Given the description of an element on the screen output the (x, y) to click on. 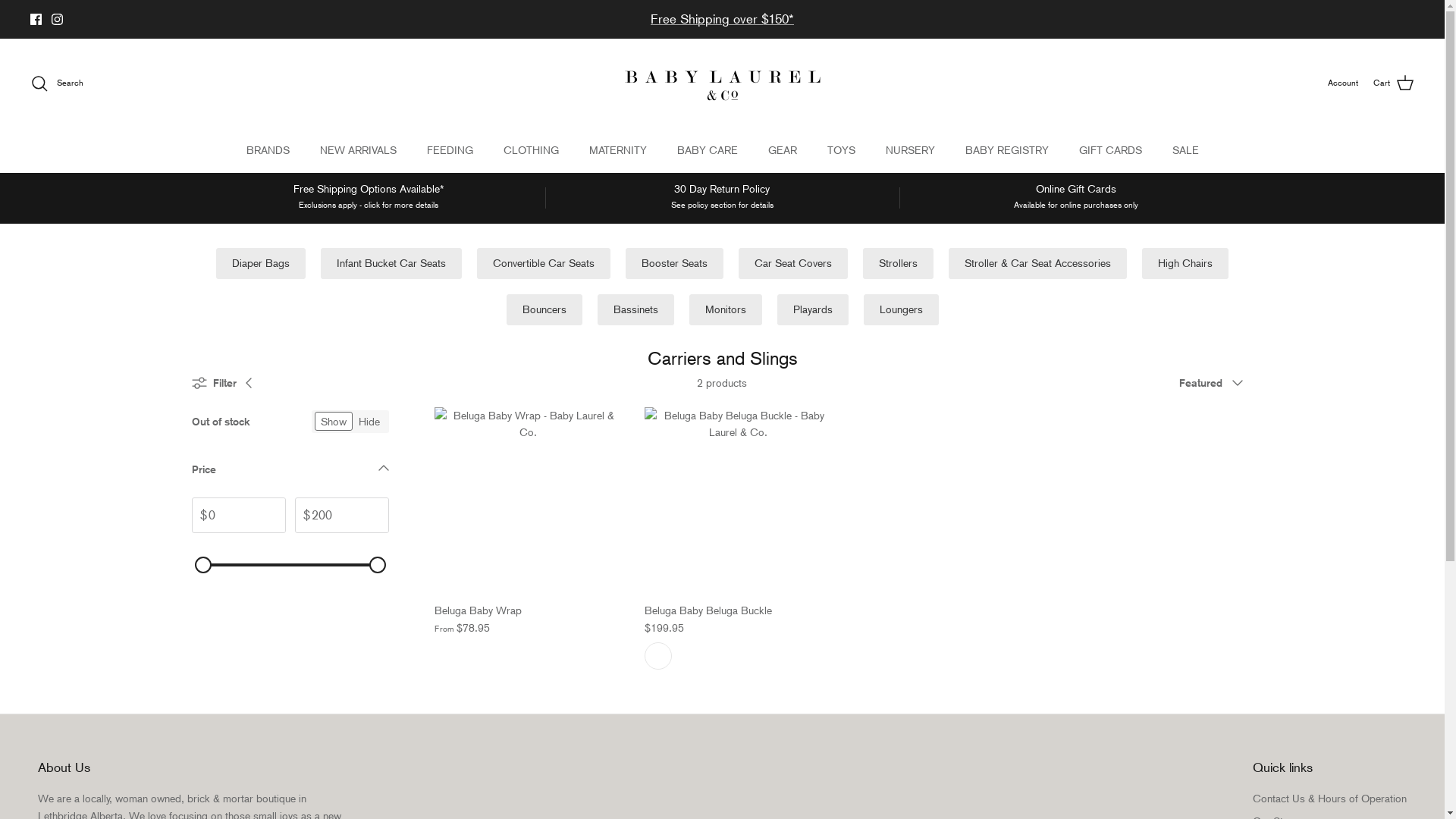
Cart Element type: text (1393, 83)
Strollers Element type: text (897, 263)
BABY REGISTRY Element type: text (1005, 150)
Infant Bucket Car Seats Element type: text (390, 263)
MATERNITY Element type: text (616, 150)
BRANDS Element type: text (267, 150)
TOYS Element type: text (840, 150)
Loungers Element type: text (900, 309)
Bouncers Element type: text (544, 309)
Featured Element type: text (1215, 382)
Monitors Element type: text (724, 309)
Beluga Baby Beluga Buckle
$199.95 Element type: text (738, 619)
High Chairs Element type: text (1185, 263)
Filter Element type: text (226, 382)
Price
Down Element type: text (289, 473)
FEEDING Element type: text (449, 150)
GEAR Element type: text (781, 150)
BABY CARE Element type: text (706, 150)
Convertible Car Seats Element type: text (543, 263)
Instagram Element type: text (56, 19)
Baby Laurel & Co.  Element type: hover (722, 82)
SALE Element type: text (1185, 150)
Diaper Bags Element type: text (260, 263)
Playards Element type: text (811, 309)
GIFT CARDS Element type: text (1109, 150)
Search Element type: text (56, 83)
Bassinets Element type: text (635, 309)
NEW ARRIVALS Element type: text (358, 150)
NURSERY Element type: text (910, 150)
Facebook Element type: text (35, 19)
CLOTHING Element type: text (530, 150)
Stroller & Car Seat Accessories Element type: text (1037, 263)
30 Day Return Policy
See policy section for details Element type: text (722, 196)
Car Seat Covers Element type: text (792, 263)
Account Element type: text (1342, 83)
Contact Us & Hours of Operation Element type: text (1329, 798)
Beluga Baby Wrap
From
$78.95 Element type: text (527, 619)
Booster Seats Element type: text (674, 263)
Online Gift Cards
Available for online purchases only Element type: text (1076, 196)
